Given the description of an element on the screen output the (x, y) to click on. 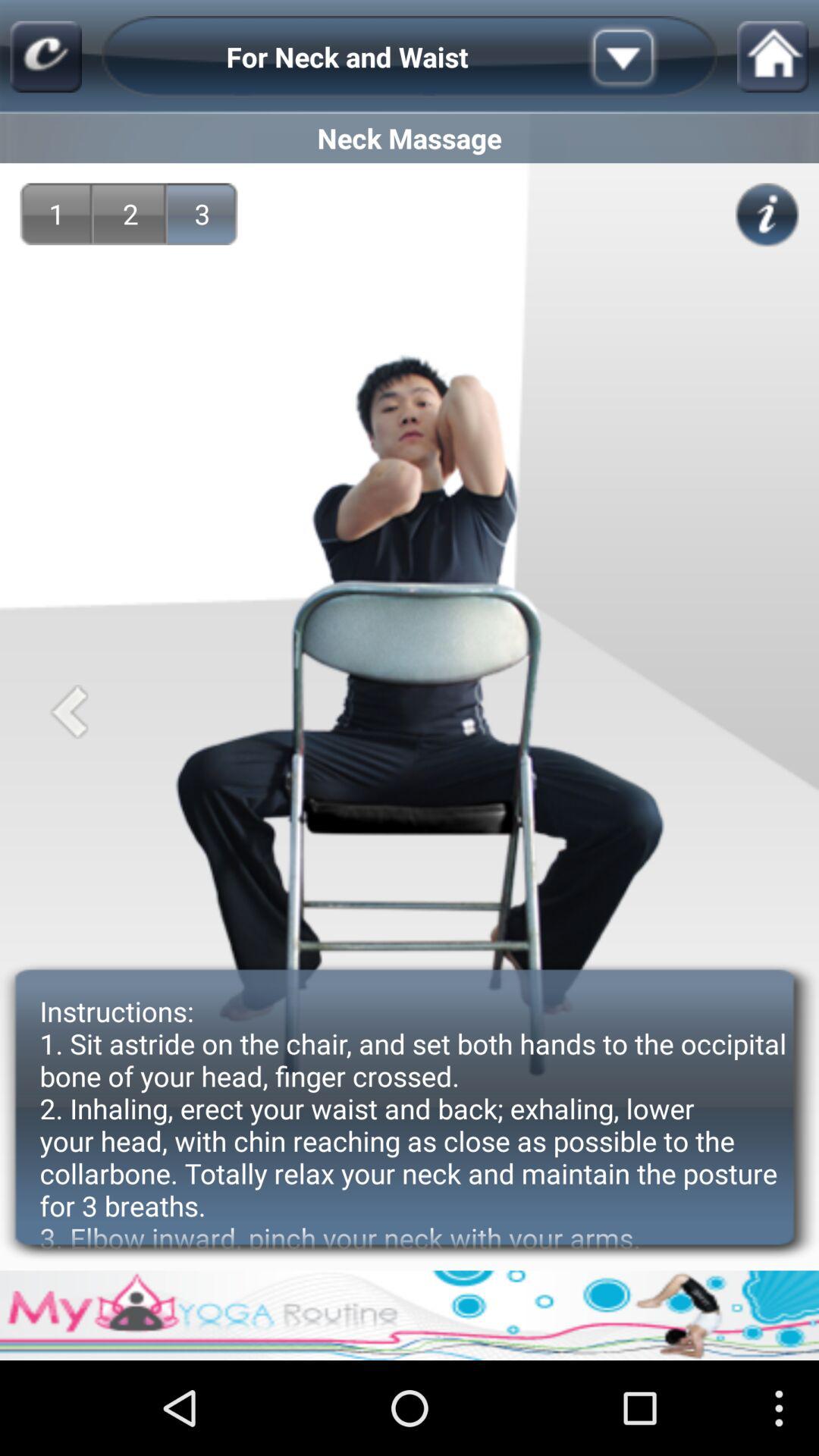
information (767, 214)
